Given the description of an element on the screen output the (x, y) to click on. 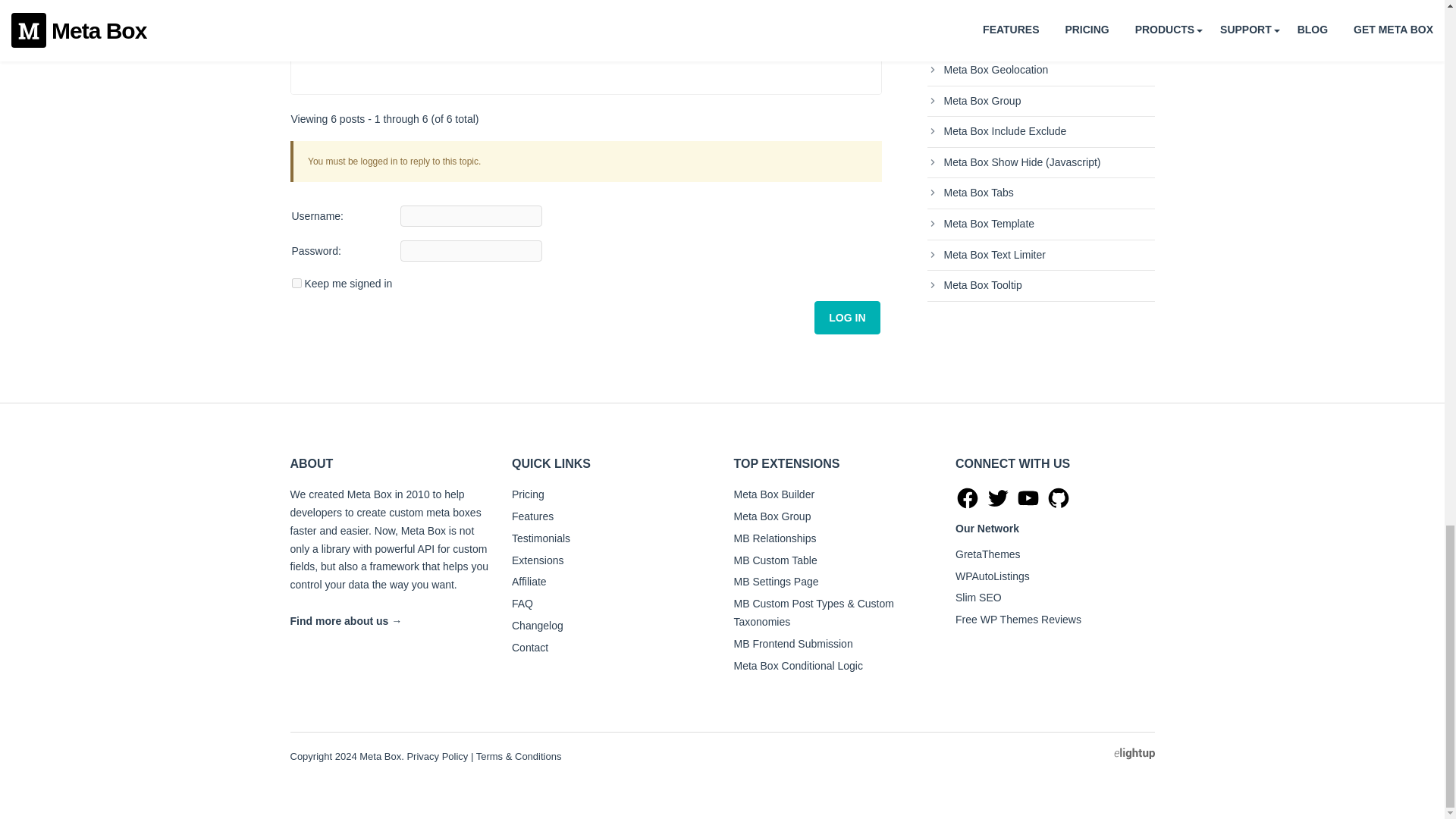
WordPress Auto Listings Plugin (992, 576)
Premium WordPress Themes (987, 553)
forever (296, 283)
View Peter's profile (340, 22)
